Given the description of an element on the screen output the (x, y) to click on. 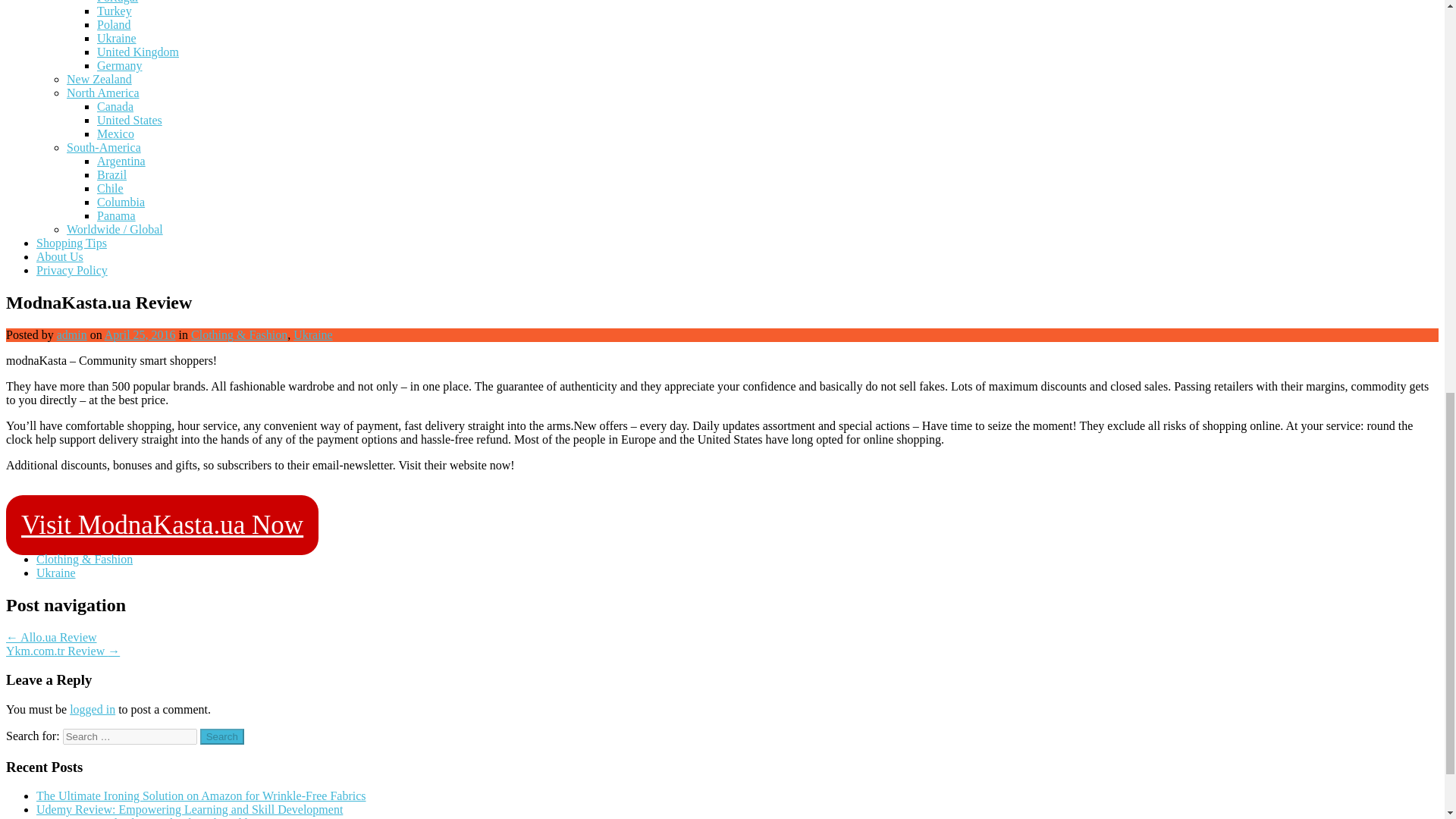
Search (222, 736)
Search (222, 736)
